Given the description of an element on the screen output the (x, y) to click on. 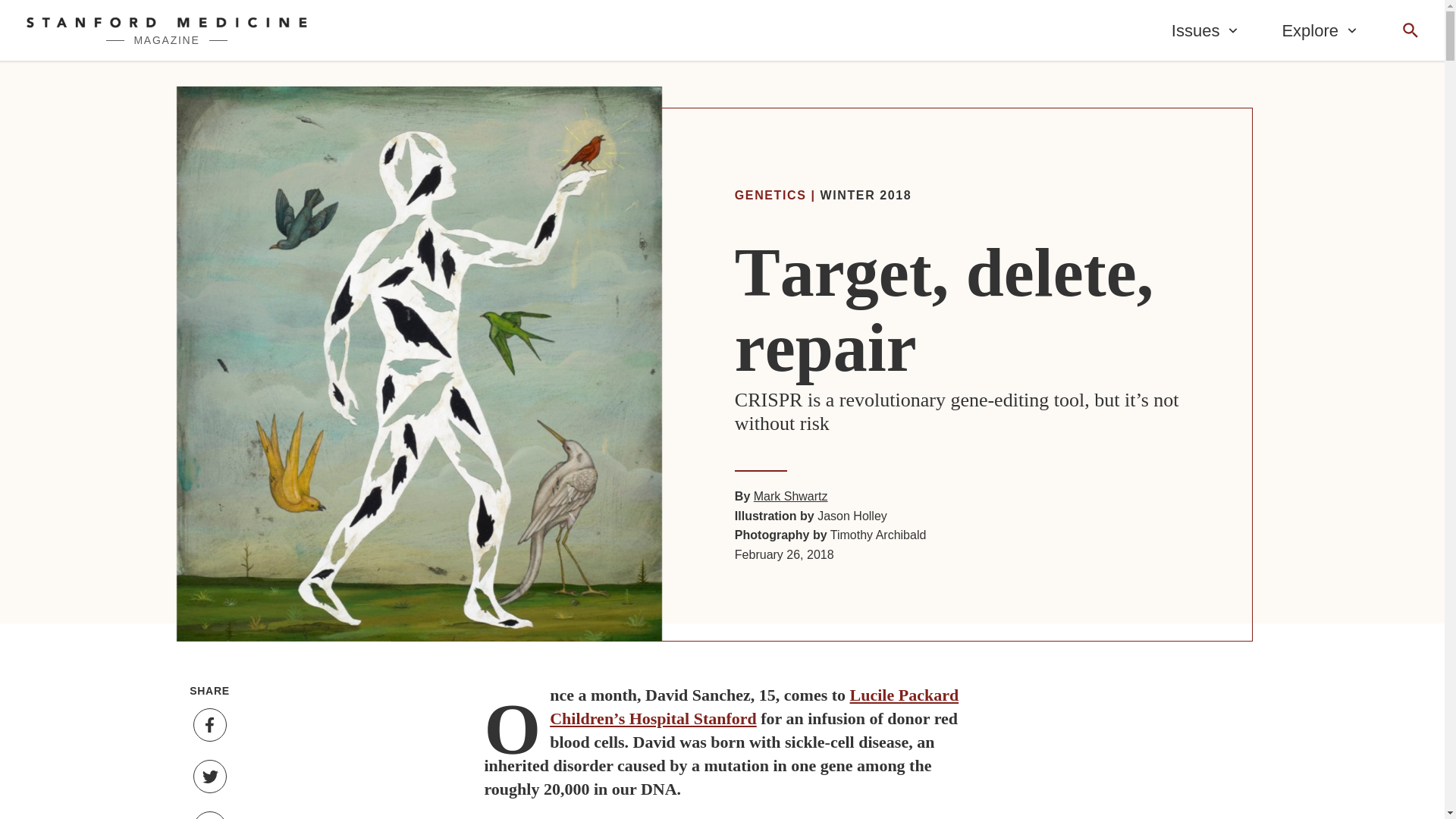
Stanford Medicine Magazine (166, 30)
MAGAZINE (166, 30)
Explore (1319, 30)
Issues (1206, 30)
